Given the description of an element on the screen output the (x, y) to click on. 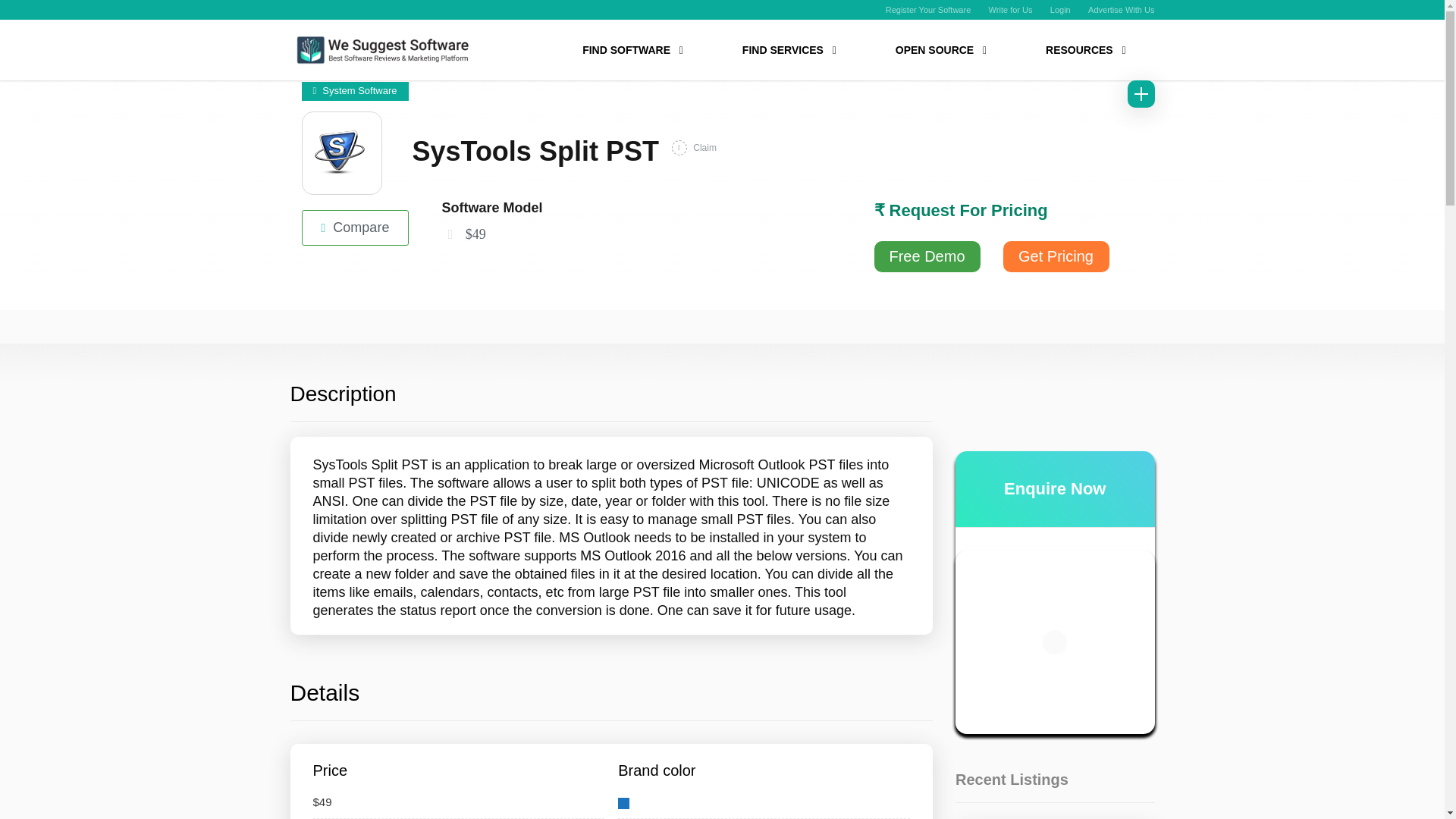
Login (1059, 9)
Write for Us (1010, 9)
Advertise With Us (1120, 9)
Compare (355, 227)
FIND SOFTWARE    (632, 51)
Register Your Software (928, 9)
Add Listing (1140, 93)
